Given the description of an element on the screen output the (x, y) to click on. 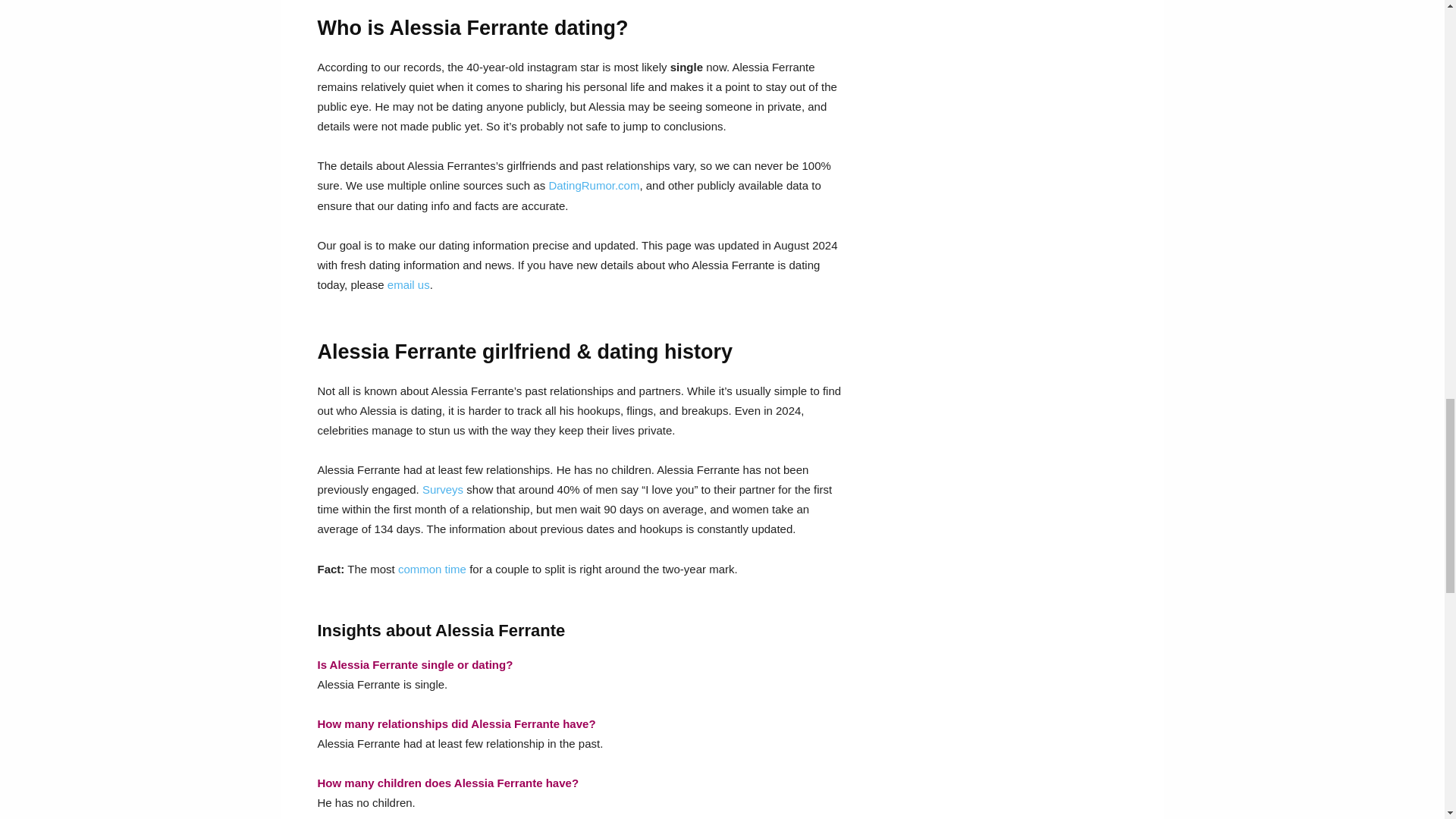
email us (408, 284)
Surveys (442, 489)
Contact CelebsInsights (408, 284)
DatingRumor.com (593, 185)
Alessia Ferrante's Girlfriend now (593, 185)
common time (431, 568)
